Given the description of an element on the screen output the (x, y) to click on. 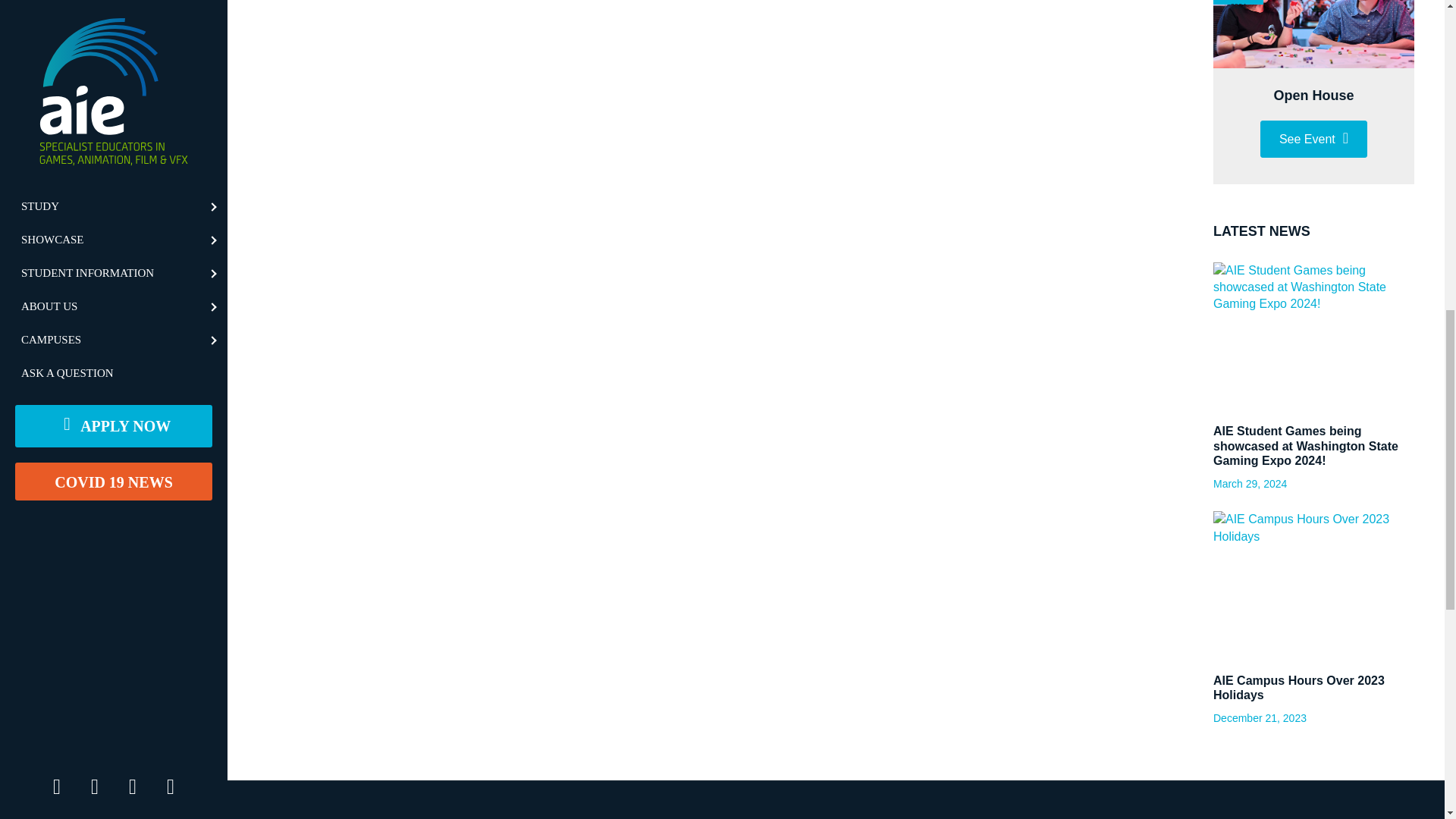
Open House (1313, 95)
Open House (1312, 33)
